Given the description of an element on the screen output the (x, y) to click on. 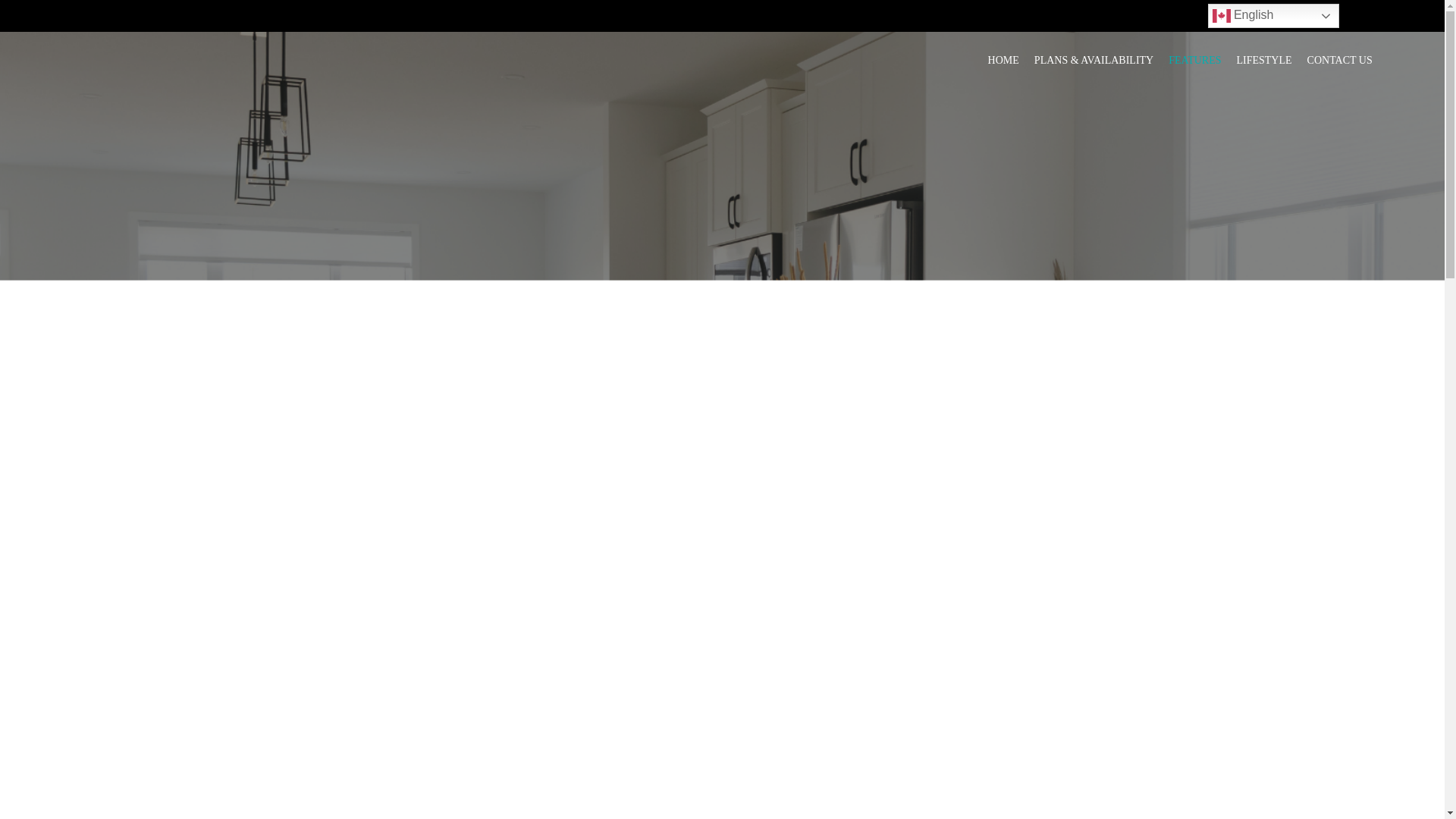
HOME (1003, 60)
FEATURES (1195, 60)
CONTACT US (1340, 60)
LIFESTYLE (1263, 60)
English (1272, 15)
